Given the description of an element on the screen output the (x, y) to click on. 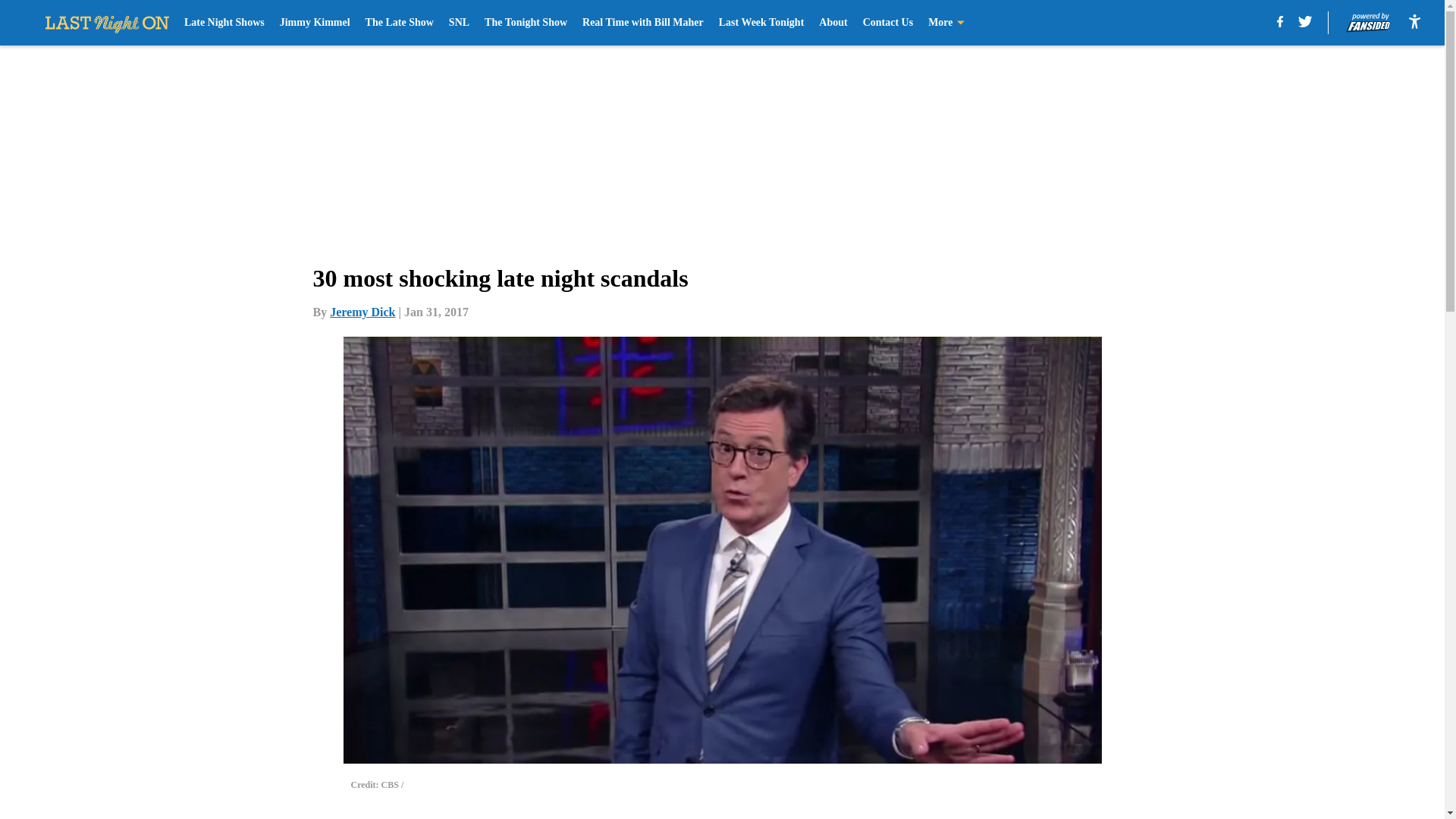
Jimmy Kimmel (314, 22)
About (832, 22)
Last Week Tonight (762, 22)
More (945, 22)
SNL (458, 22)
Real Time with Bill Maher (642, 22)
Jeremy Dick (362, 311)
The Late Show (399, 22)
The Tonight Show (525, 22)
Late Night Shows (224, 22)
